Given the description of an element on the screen output the (x, y) to click on. 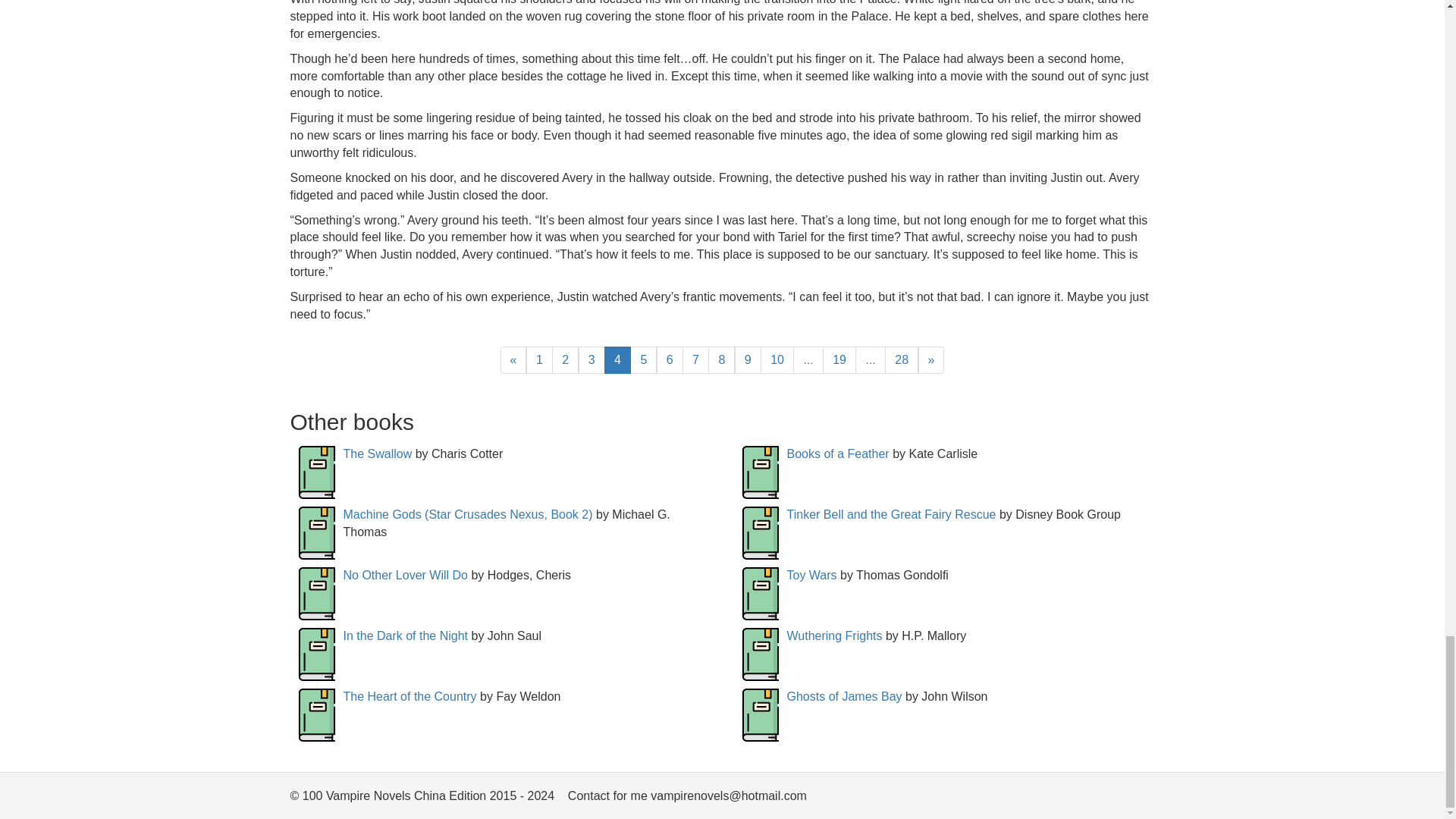
8 (721, 360)
LiveInternet (1142, 799)
7 (695, 360)
Books of a Feather (838, 453)
The Swallow (377, 453)
5 (643, 360)
9 (748, 360)
10 (776, 360)
6 (669, 360)
3 (591, 360)
2 (564, 360)
1 (539, 360)
28 (901, 360)
19 (839, 360)
4 (617, 360)
